Given the description of an element on the screen output the (x, y) to click on. 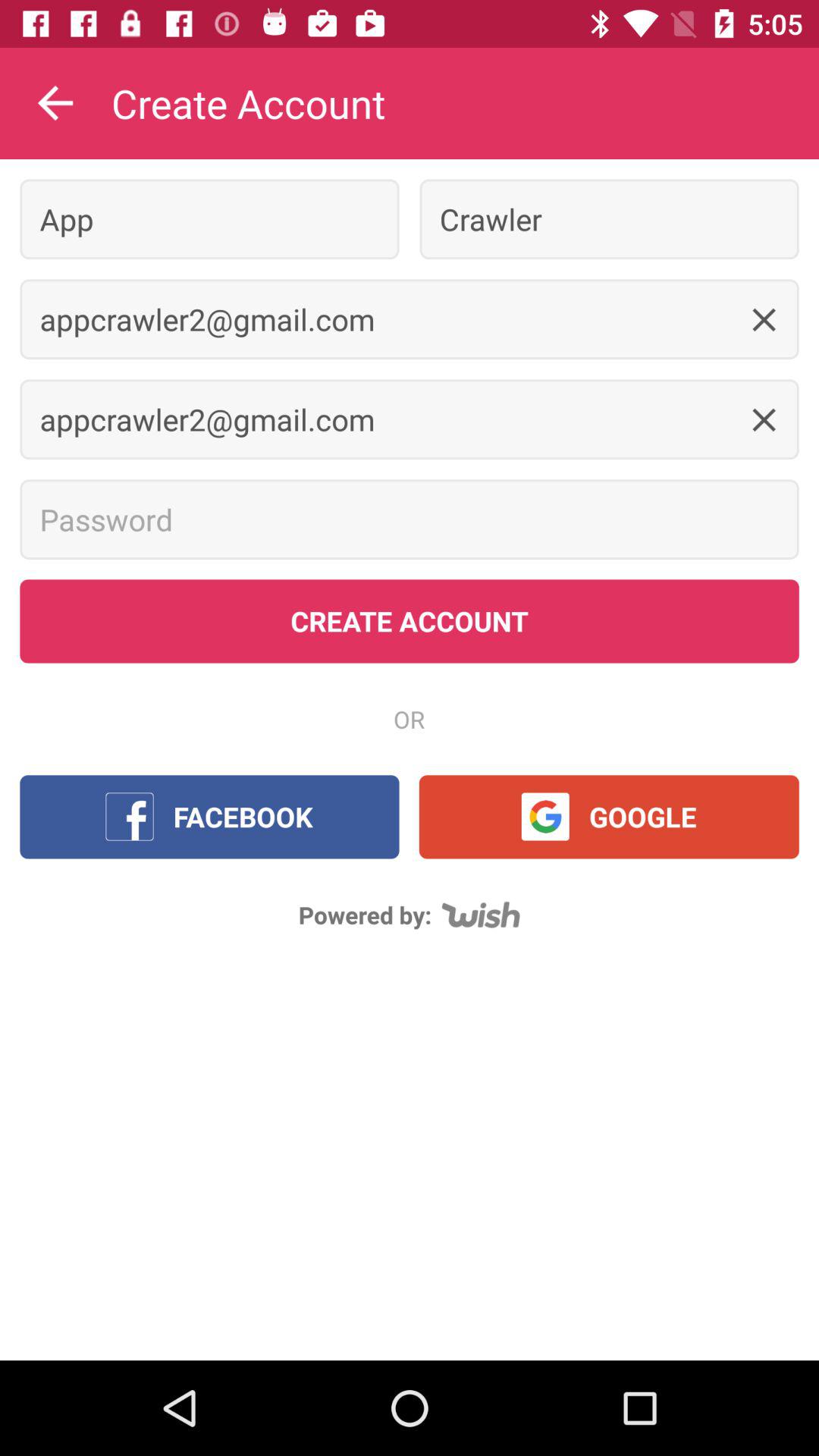
select crawler icon (609, 219)
